Given the description of an element on the screen output the (x, y) to click on. 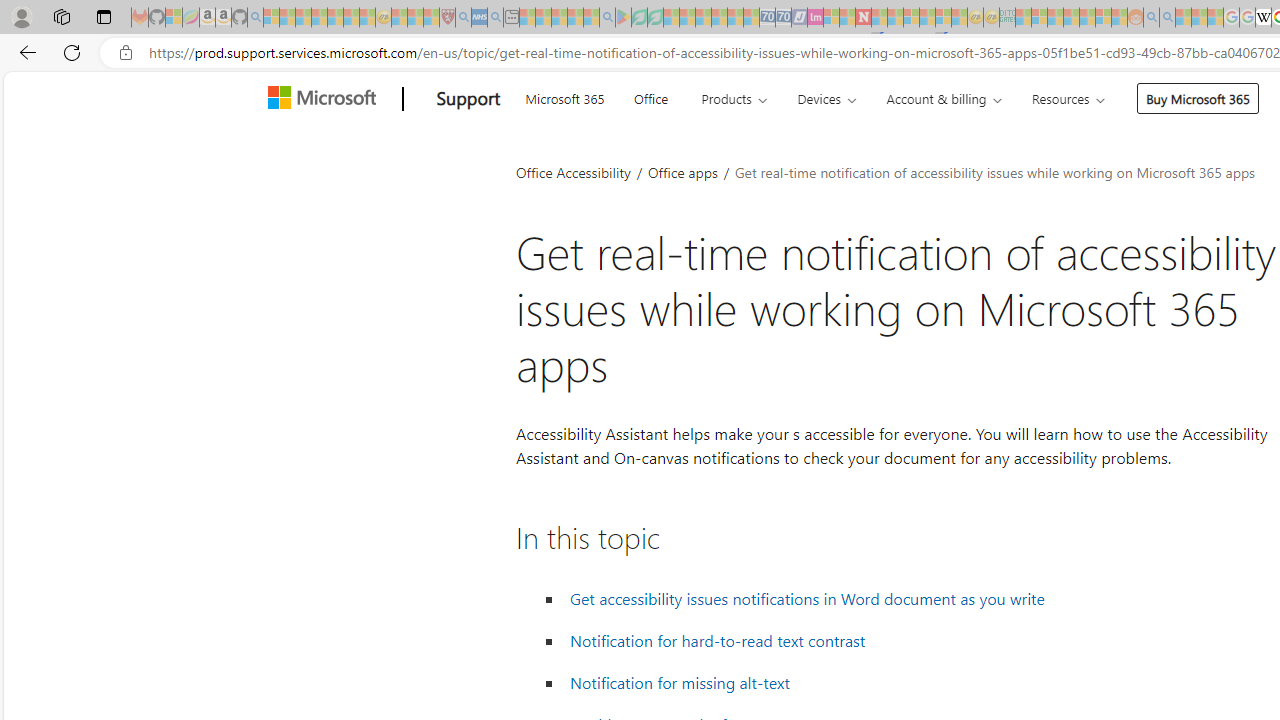
Office (650, 96)
 Notification for hard-to-read text contrast (717, 641)
